Given the description of an element on the screen output the (x, y) to click on. 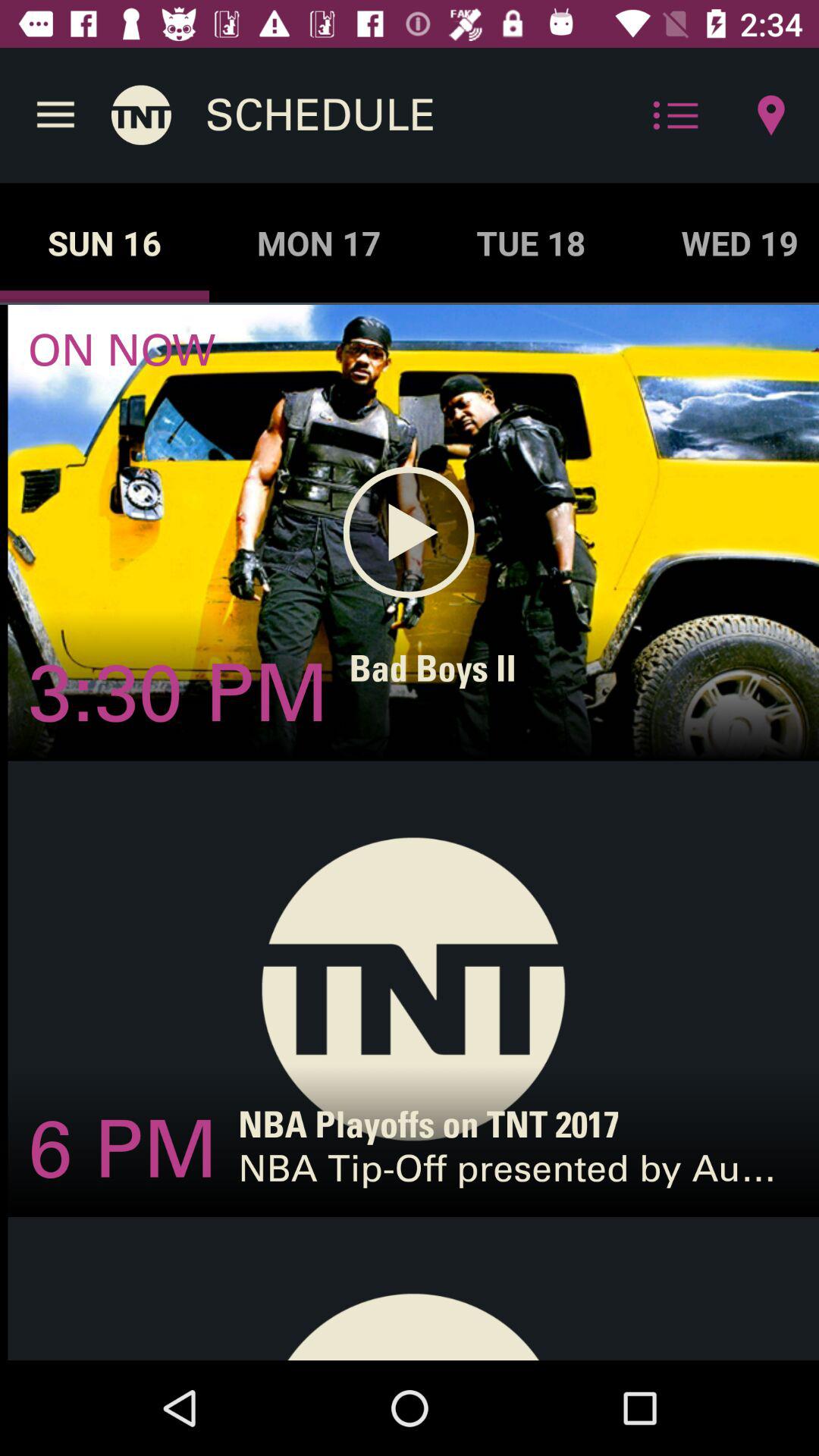
select tue 18 icon (530, 242)
